Given the description of an element on the screen output the (x, y) to click on. 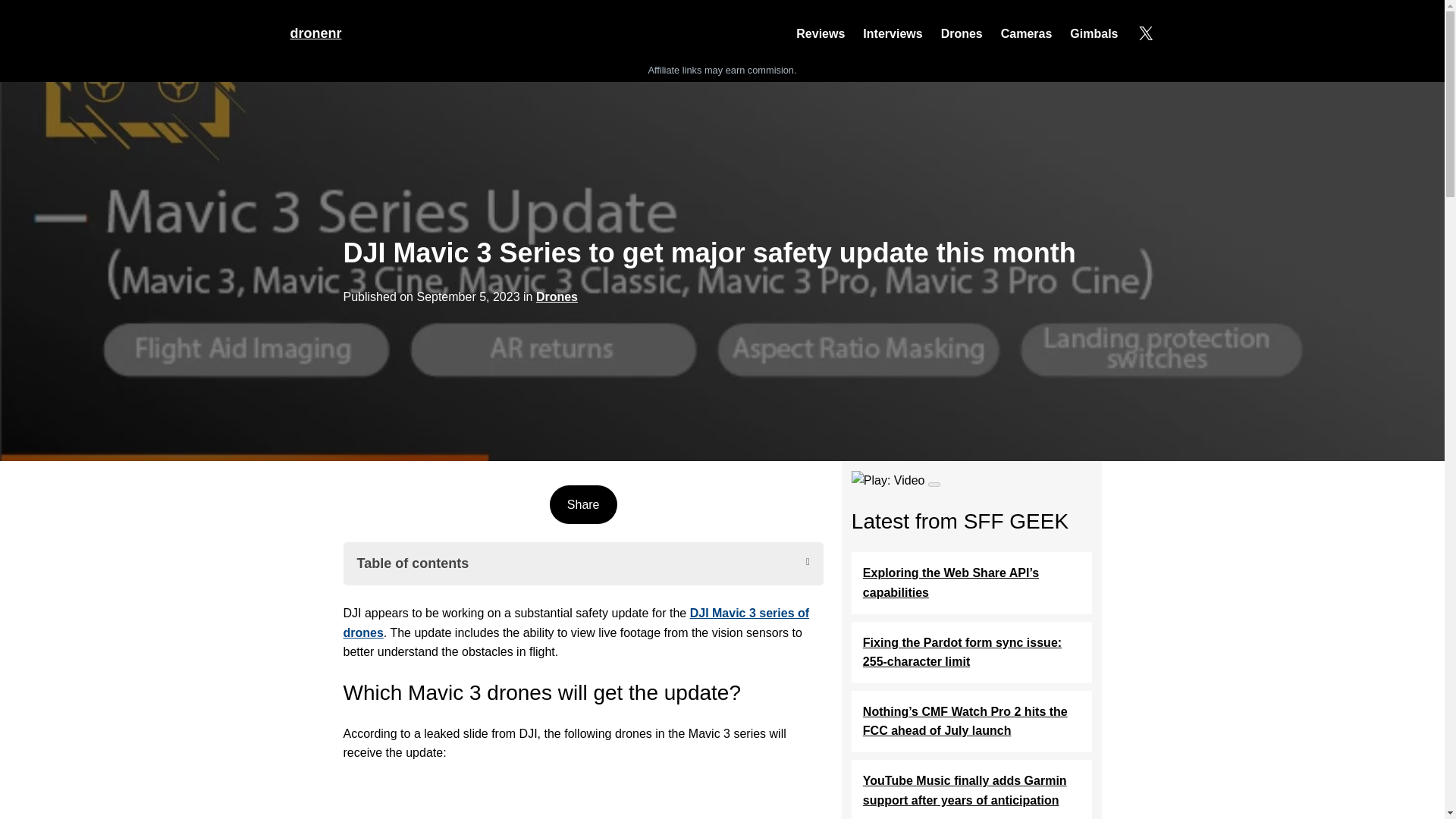
Advertisement (582, 800)
Play: Video (895, 480)
dronenr (314, 32)
Cameras (1026, 34)
Fixing the Pardot form sync issue: 255-character limit (971, 652)
Gimbals (1094, 34)
Drones (556, 296)
Table of contents (582, 563)
Interviews (892, 34)
Drones (961, 34)
DJI Mavic 3 series of drones (575, 622)
Reviews (820, 34)
X (1144, 33)
Share (581, 504)
